Given the description of an element on the screen output the (x, y) to click on. 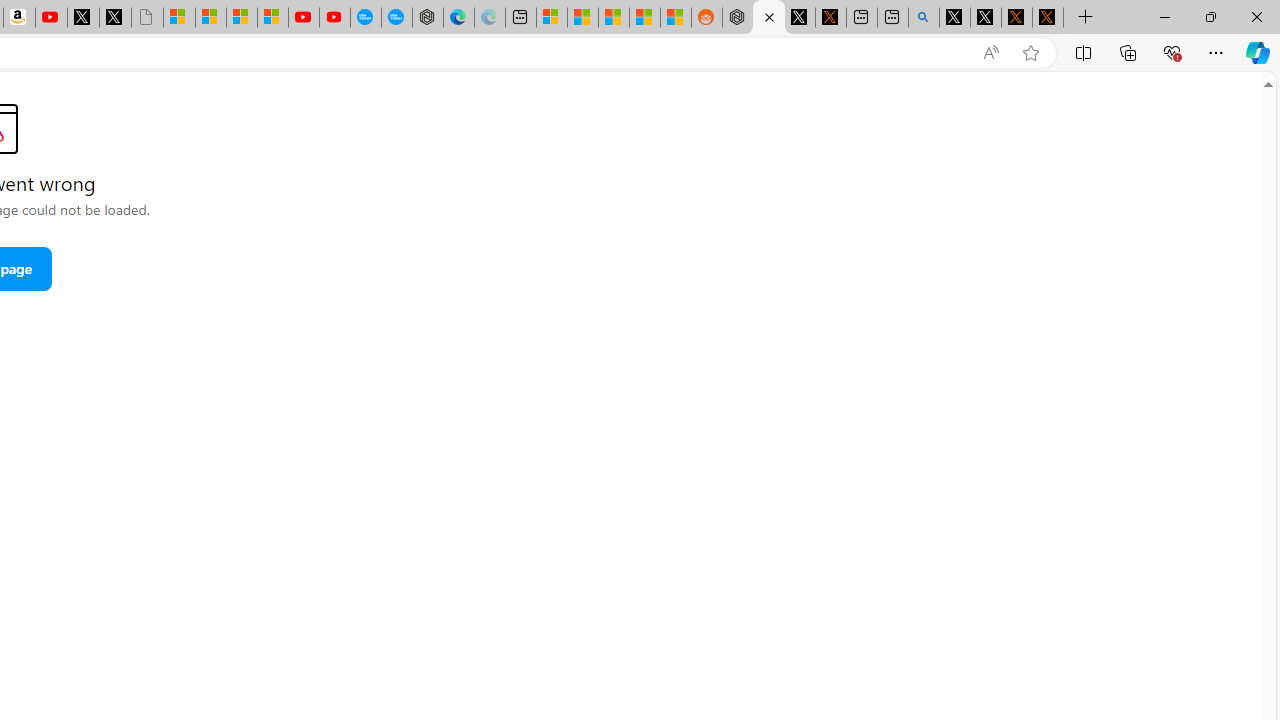
Nordace - Nordace has arrived Hong Kong (427, 17)
Profile / X (954, 17)
help.x.com | 524: A timeout occurred (830, 17)
Microsoft account | Microsoft Account Privacy Settings (551, 17)
X Privacy Policy (1048, 17)
